Given the description of an element on the screen output the (x, y) to click on. 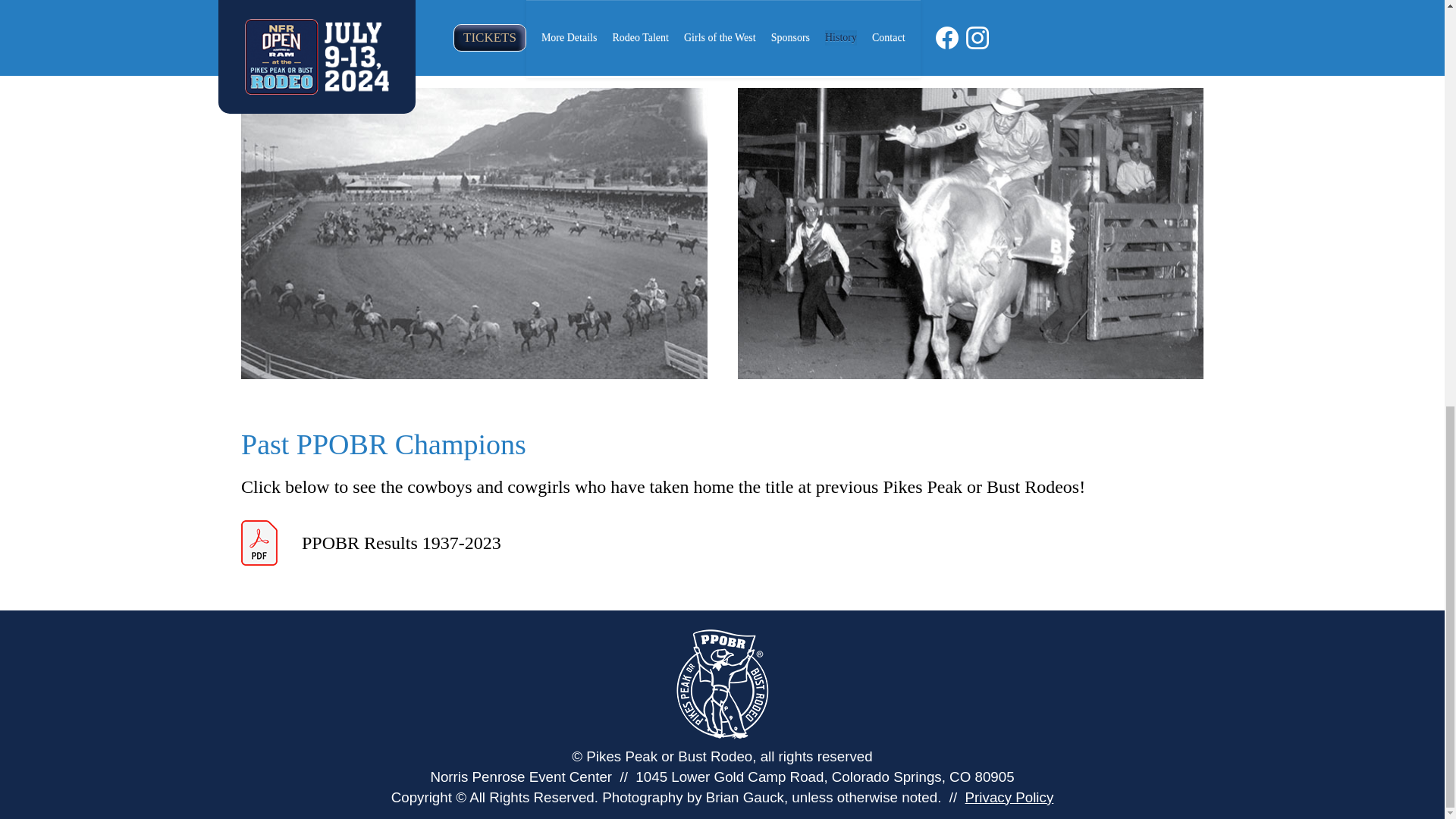
PPOBR Results 1937-2023 (370, 542)
Privacy Policy (1009, 797)
Our privacy policy (1009, 797)
